Given the description of an element on the screen output the (x, y) to click on. 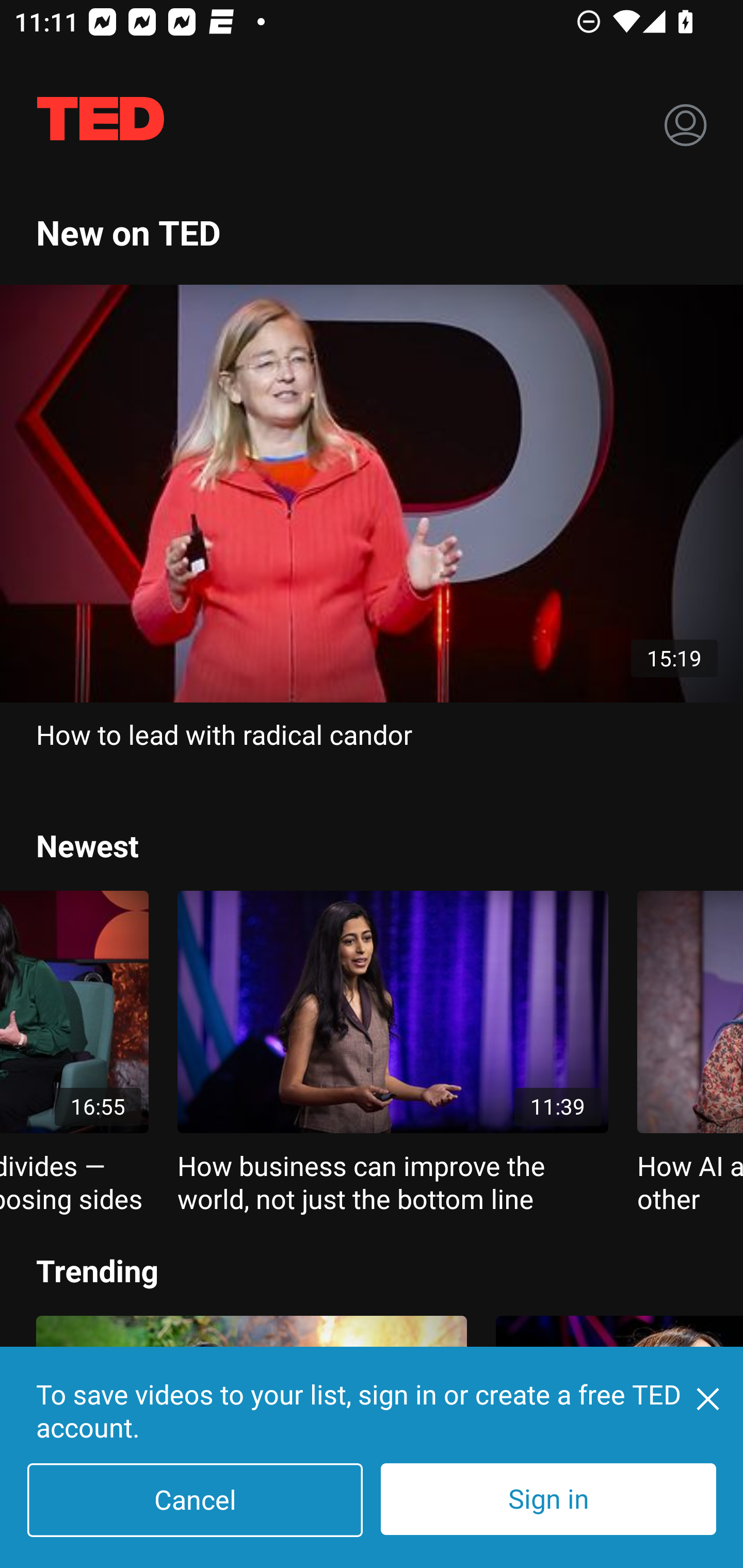
Cancel (194, 1499)
Sign in (548, 1498)
